Given the description of an element on the screen output the (x, y) to click on. 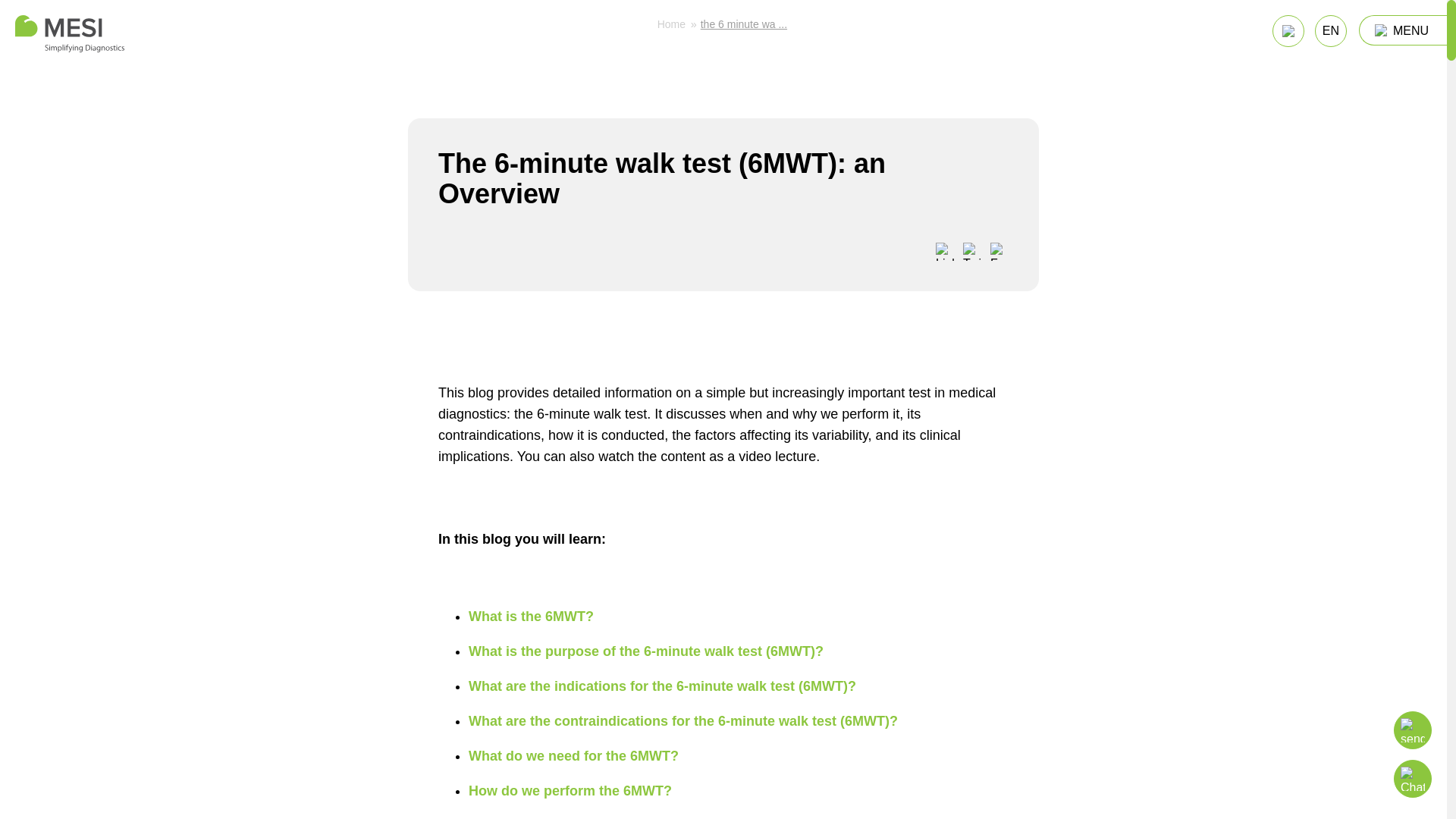
Home (68, 33)
What is the 6MWT? (531, 616)
the 6 minute wa ... breadcrumbs (743, 24)
Home (671, 24)
LinkedIn (944, 251)
the 6 minute wa ... (743, 24)
Twitter (971, 251)
What do we need for the 6MWT? (573, 755)
Home breadcrumbs (671, 24)
How do we perform the 6MWT? (569, 790)
Facebook (999, 251)
